Given the description of an element on the screen output the (x, y) to click on. 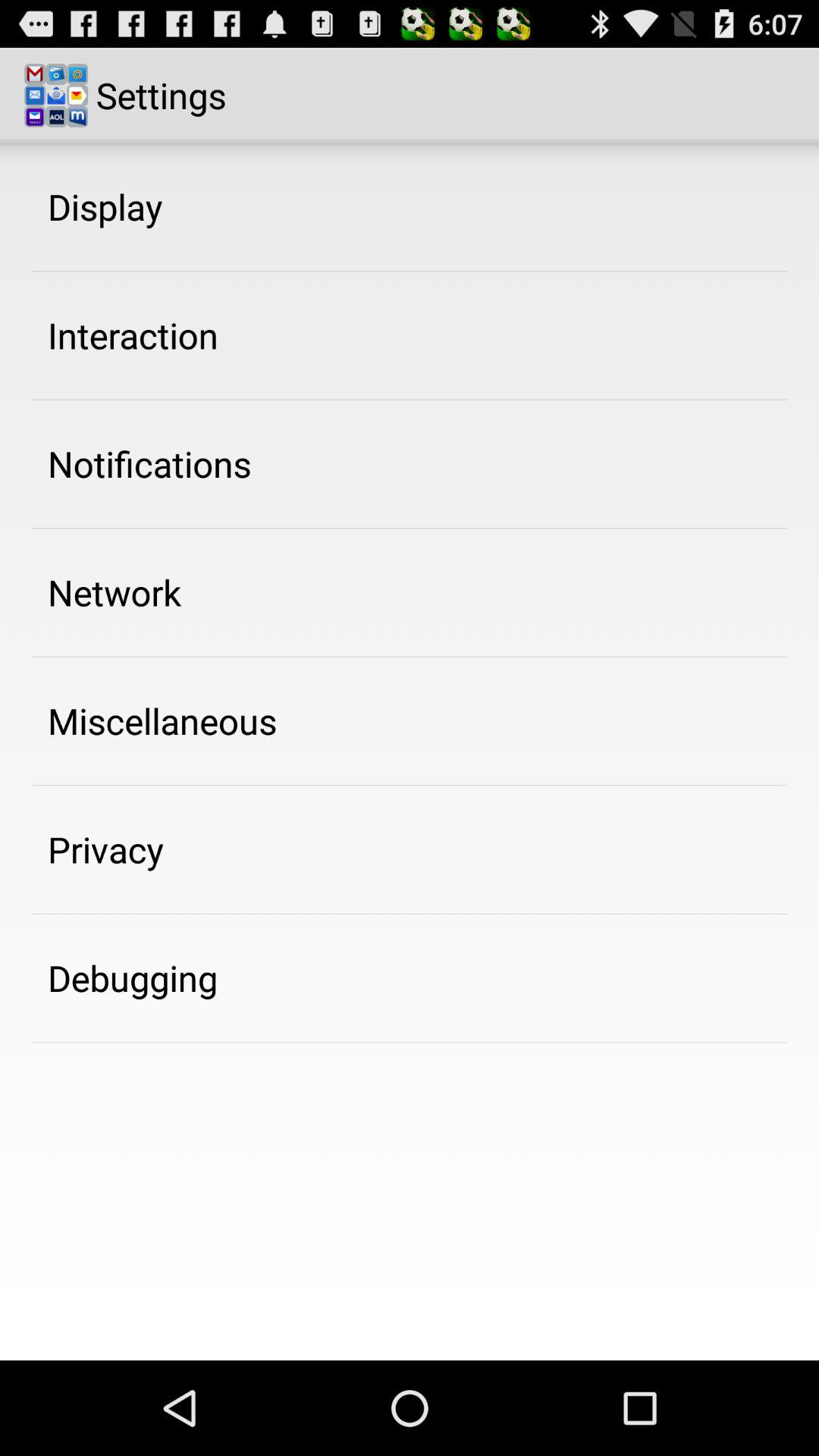
open debugging at the bottom left corner (132, 977)
